Given the description of an element on the screen output the (x, y) to click on. 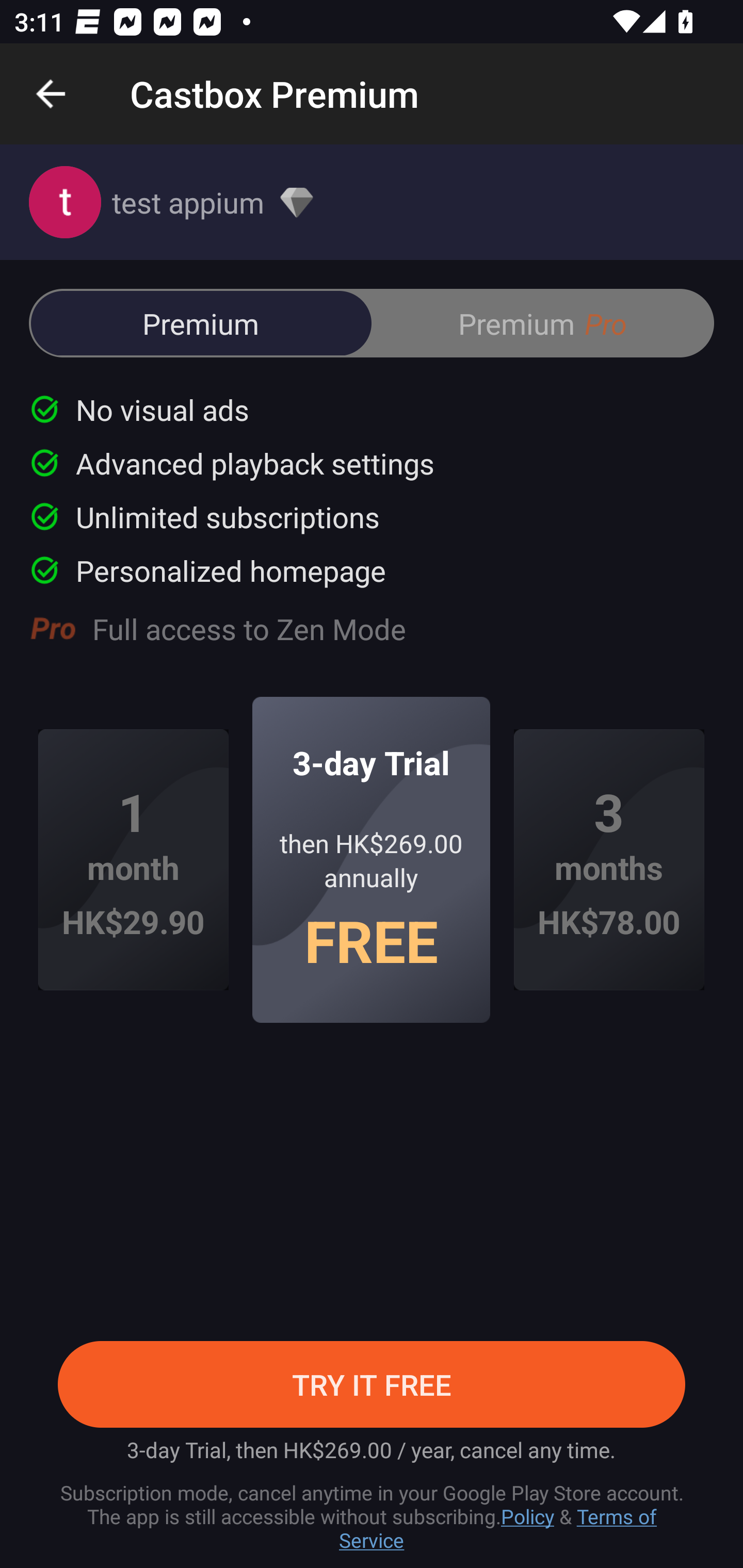
Navigate up (50, 93)
test appium (371, 202)
Premium (201, 322)
Premium Pro (541, 322)
3-day Trial then HK$269.00 annually FREE (371, 859)
1 month HK$29.90 (132, 859)
3 months HK$78.00 (609, 859)
TRY IT FREE (371, 1384)
